Given the description of an element on the screen output the (x, y) to click on. 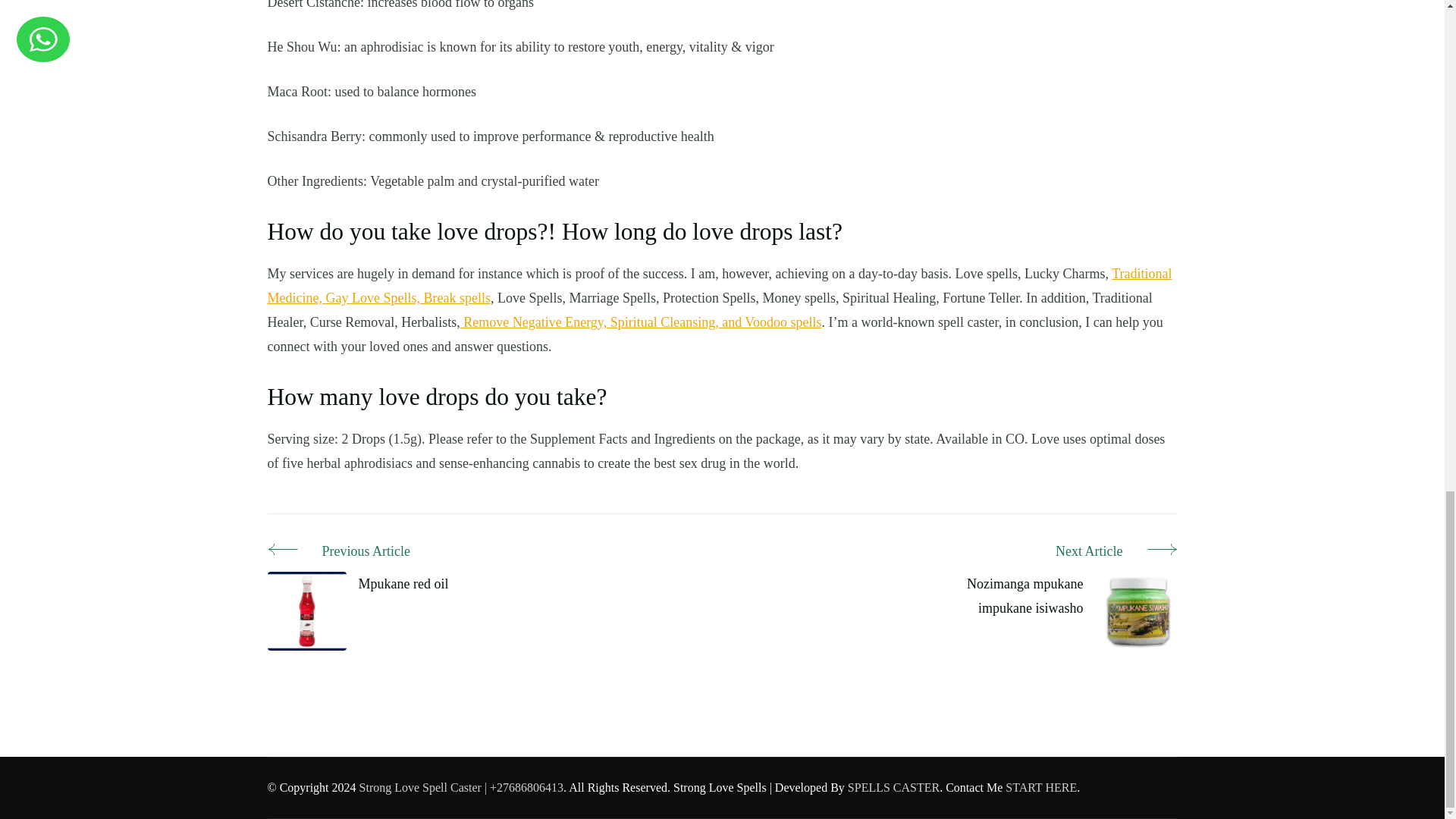
Traditional Medicine, Gay Love Spells, Break spells (719, 285)
Next Article (1044, 551)
SPELLS CASTER (893, 787)
Previous Article (357, 551)
START HERE (1041, 787)
